Given the description of an element on the screen output the (x, y) to click on. 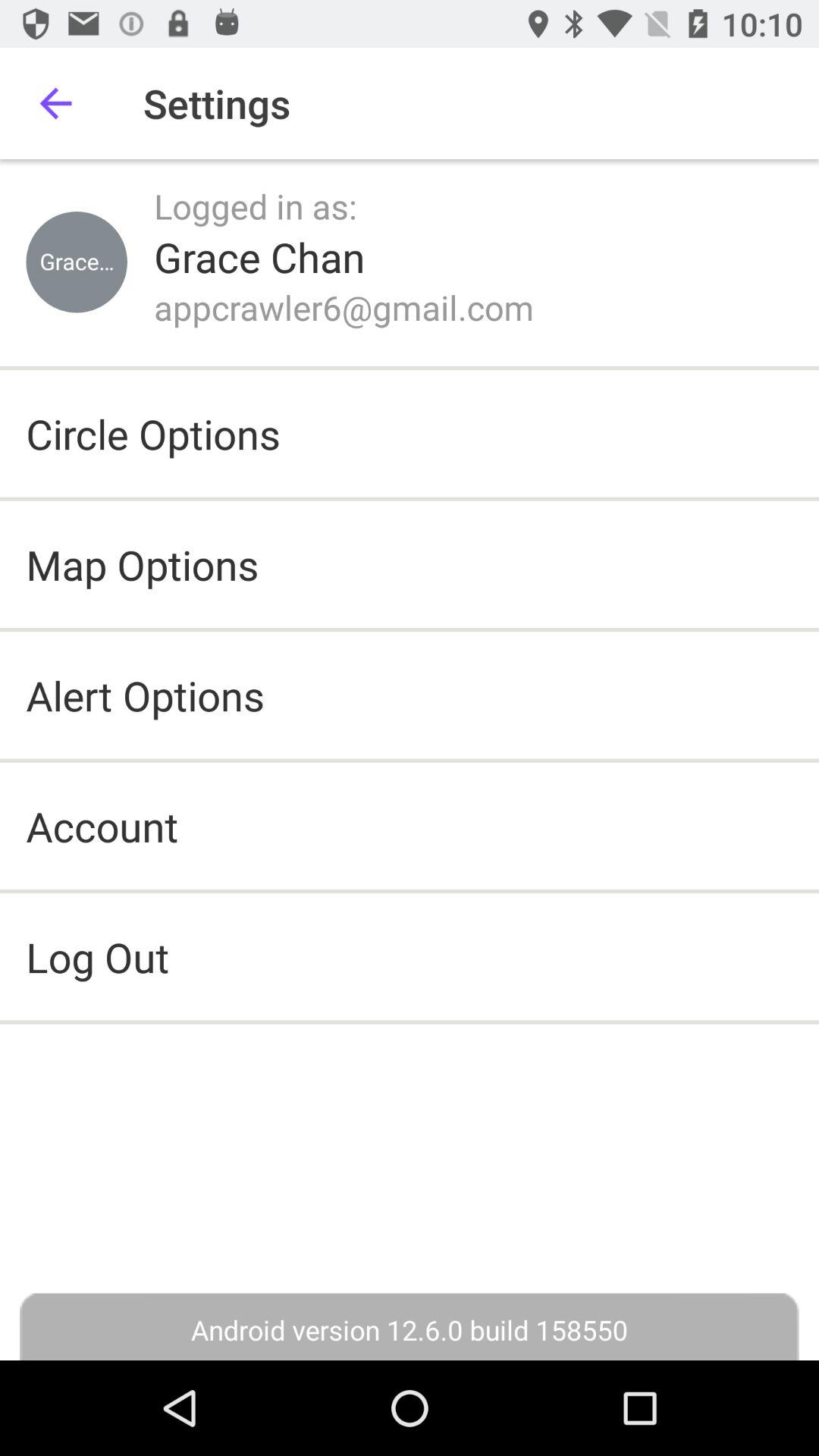
choose logged in as: (255, 206)
